Given the description of an element on the screen output the (x, y) to click on. 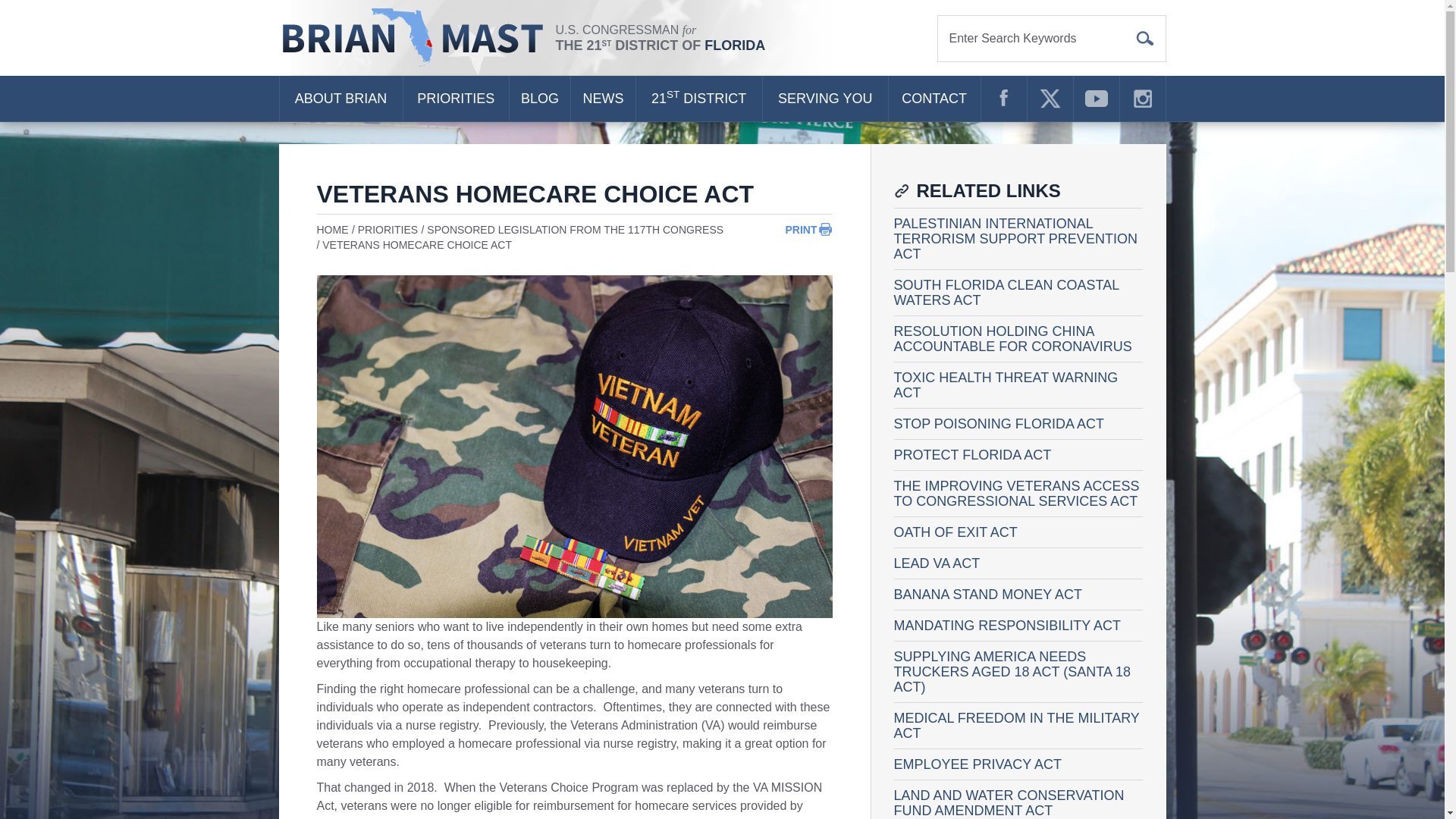
PRIORITIES (455, 98)
NEWS (602, 98)
CONTACT (933, 98)
Congressman Brian Mast (417, 38)
ABOUT BRIAN (340, 98)
21ST DISTRICT (698, 98)
SERVING YOU (825, 98)
BLOG (539, 98)
Go (1144, 38)
